Given the description of an element on the screen output the (x, y) to click on. 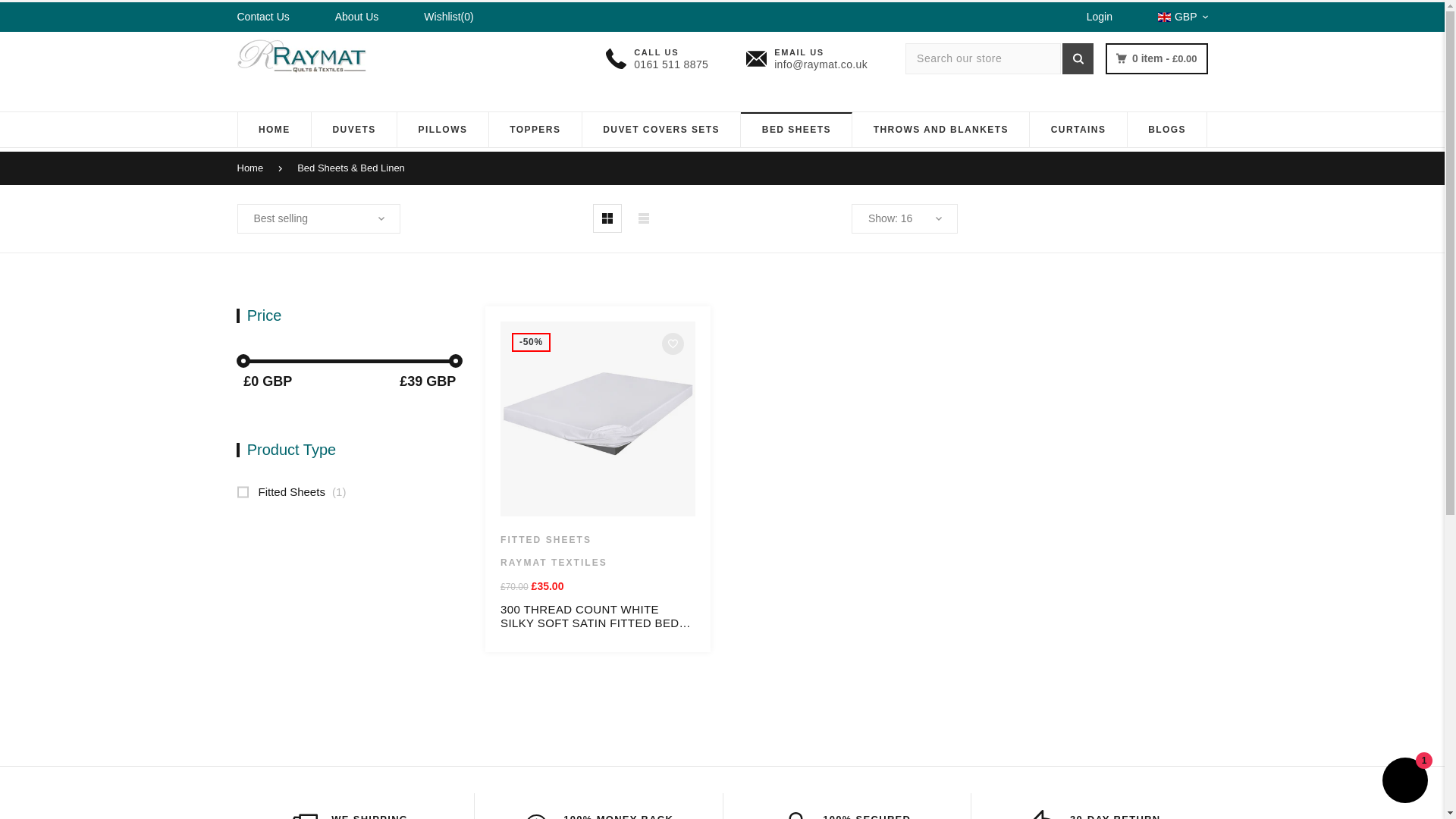
Shopify online store chat (1404, 781)
Contact Us (262, 16)
Home (256, 168)
DUVETS (353, 129)
Login (1099, 16)
HOME (274, 129)
About Us (357, 16)
